Given the description of an element on the screen output the (x, y) to click on. 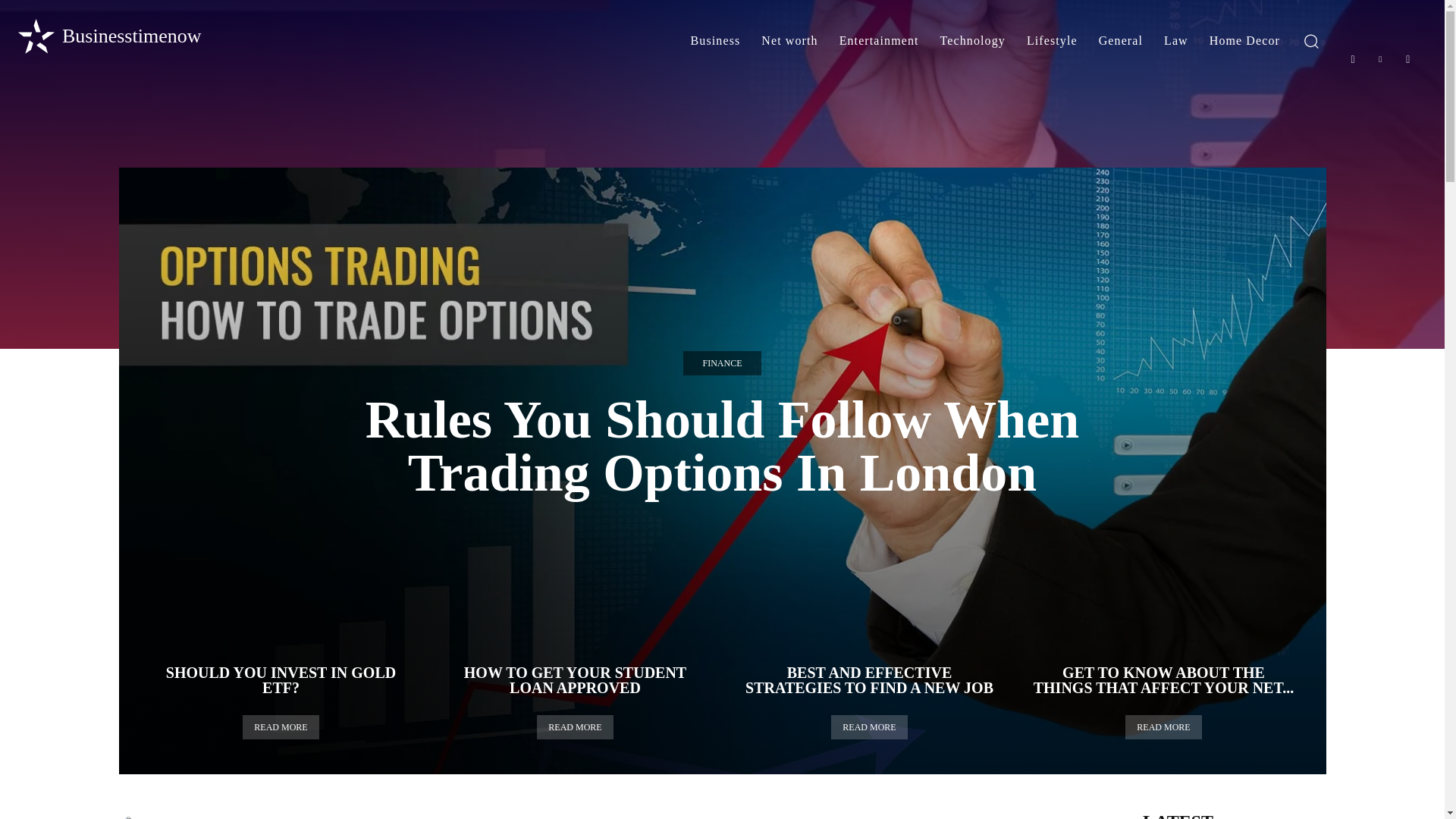
Businesstimenow (107, 36)
Technology (973, 40)
RSS (1408, 58)
Law (1175, 40)
Business (715, 40)
FINANCE (721, 362)
Businesstimenow (107, 36)
Lifestyle (1051, 40)
Facebook (1353, 58)
Home Decor (1244, 40)
General (1120, 40)
Net worth (789, 40)
Entertainment (879, 40)
